Given the description of an element on the screen output the (x, y) to click on. 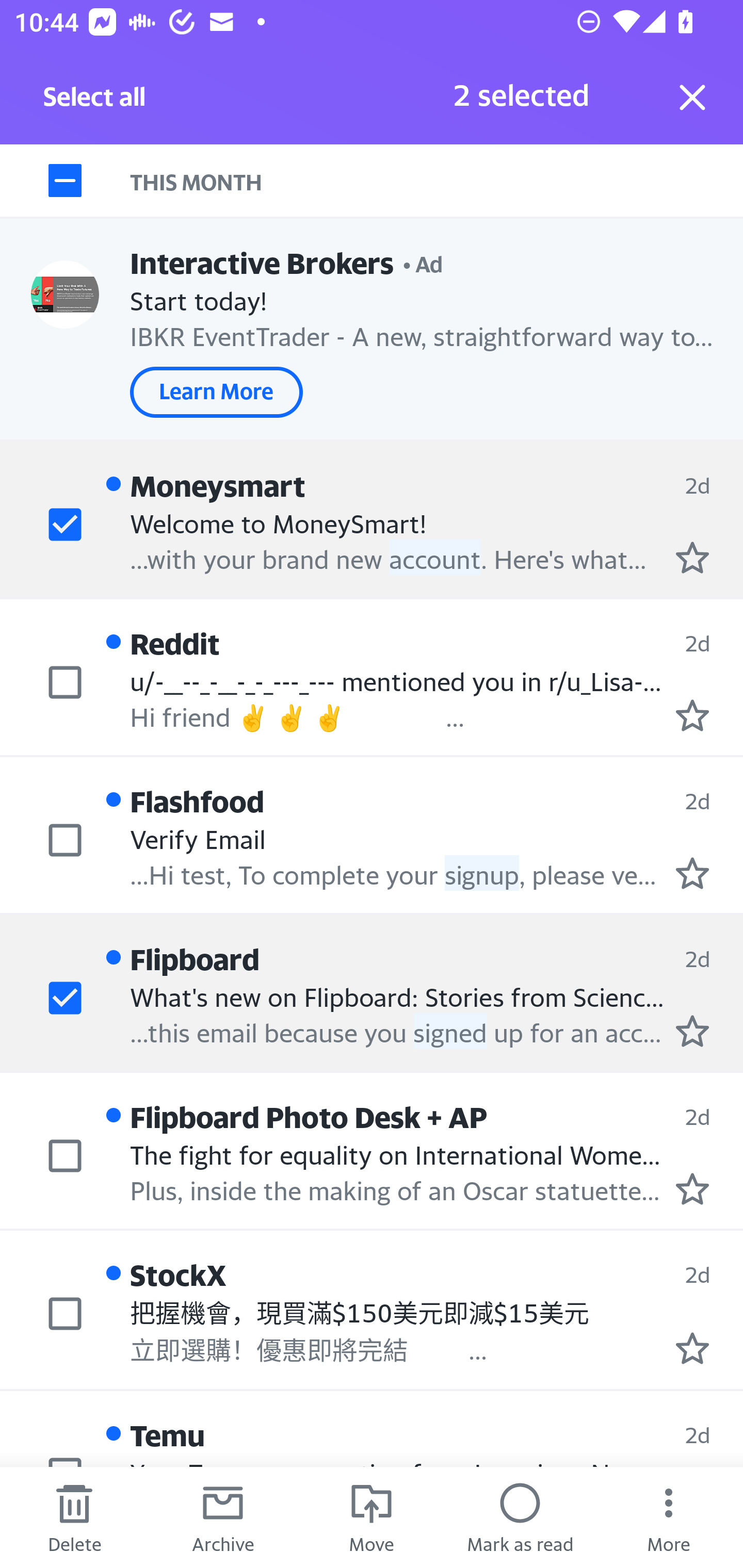
Exit selection mode (692, 97)
Select all (94, 101)
THIS MONTH (436, 180)
Mark as starred. (692, 557)
Mark as starred. (692, 715)
Mark as starred. (692, 872)
Mark as starred. (692, 1030)
Mark as starred. (692, 1189)
Mark as starred. (692, 1347)
Delete (74, 1517)
Archive (222, 1517)
Move (371, 1517)
Mark as read (519, 1517)
More (668, 1517)
